Given the description of an element on the screen output the (x, y) to click on. 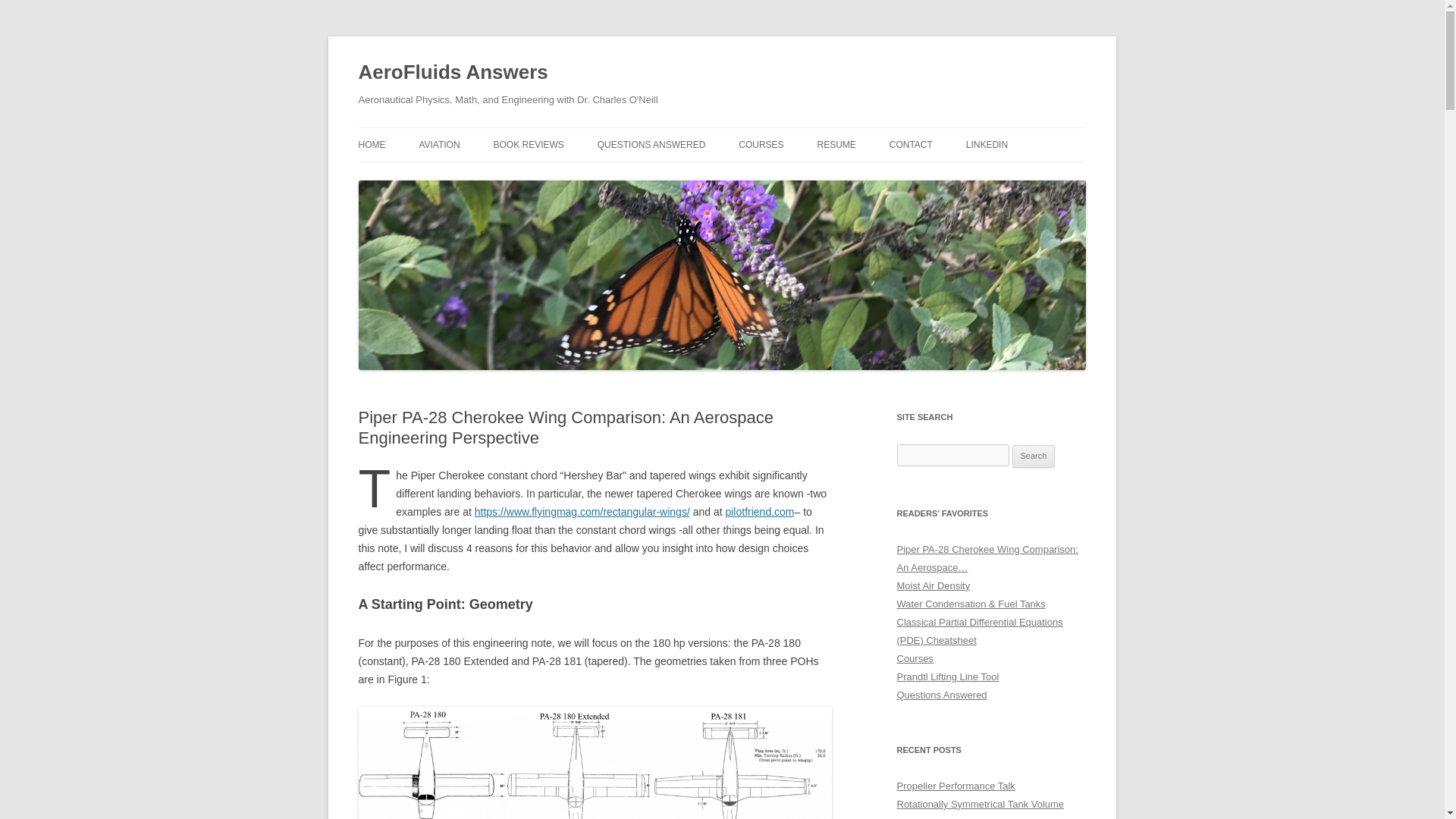
Courses (914, 658)
LINKEDIN (986, 144)
COURSES (760, 144)
Can ChatGPT pass an undergraduate aerodynamics exam? (978, 817)
Propeller Performance Talk (955, 785)
CONTACT (911, 144)
Search (1033, 456)
pilotfriend.com (759, 511)
Rotationally Symmetrical Tank Volume (980, 803)
Moist Air Density (932, 585)
Prandtl Lifting Line Tool (947, 676)
AeroFluids Answers (452, 72)
BOOK REVIEWS (528, 144)
